Given the description of an element on the screen output the (x, y) to click on. 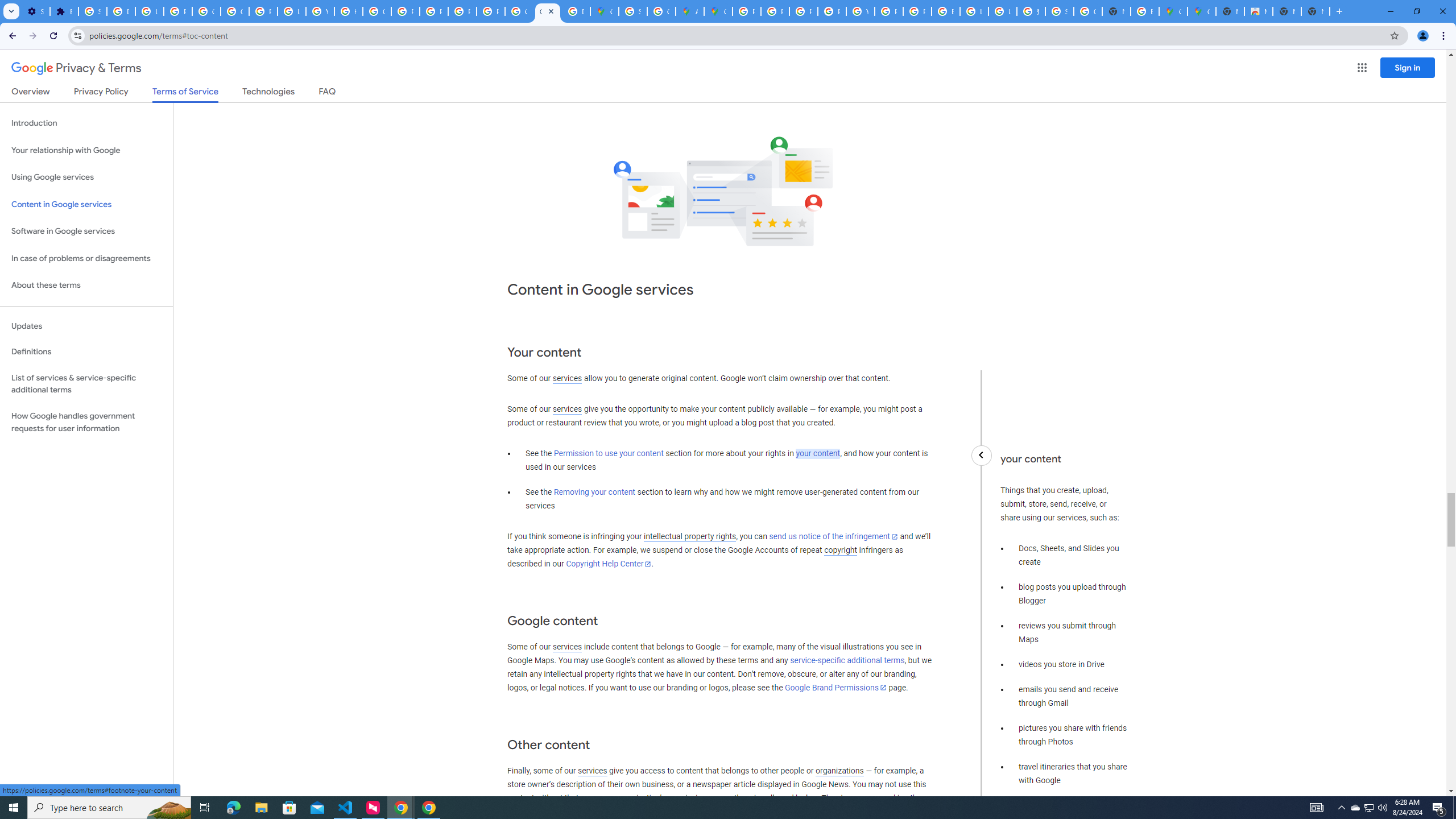
Google Maps (604, 11)
Google Maps (1201, 11)
New Tab (1230, 11)
Sign in - Google Accounts (92, 11)
Delete photos & videos - Computer - Google Photos Help (120, 11)
intellectual property rights (689, 536)
Sign in - Google Accounts (632, 11)
Google Brand Permissions (835, 687)
Google Maps (1173, 11)
Removing your content (593, 492)
Copyright Help Center (609, 564)
Settings - On startup (35, 11)
Privacy Help Center - Policies Help (774, 11)
